Given the description of an element on the screen output the (x, y) to click on. 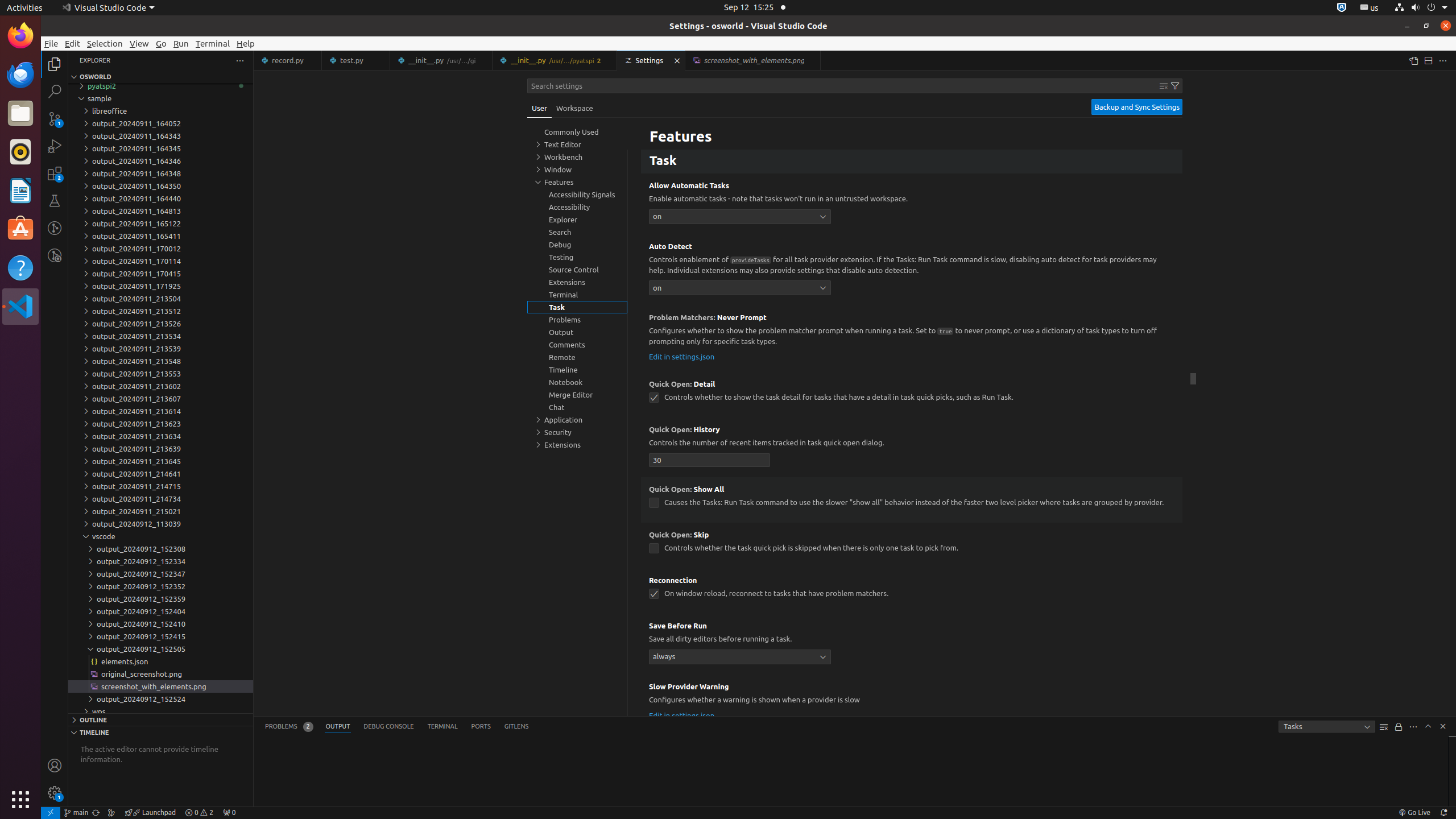
wps Element type: tree-item (160, 711)
original_screenshot.png Element type: tree-item (160, 673)
Accounts Element type: push-button (54, 765)
Terminal (Ctrl+`) Element type: page-tab (442, 726)
